Given the description of an element on the screen output the (x, y) to click on. 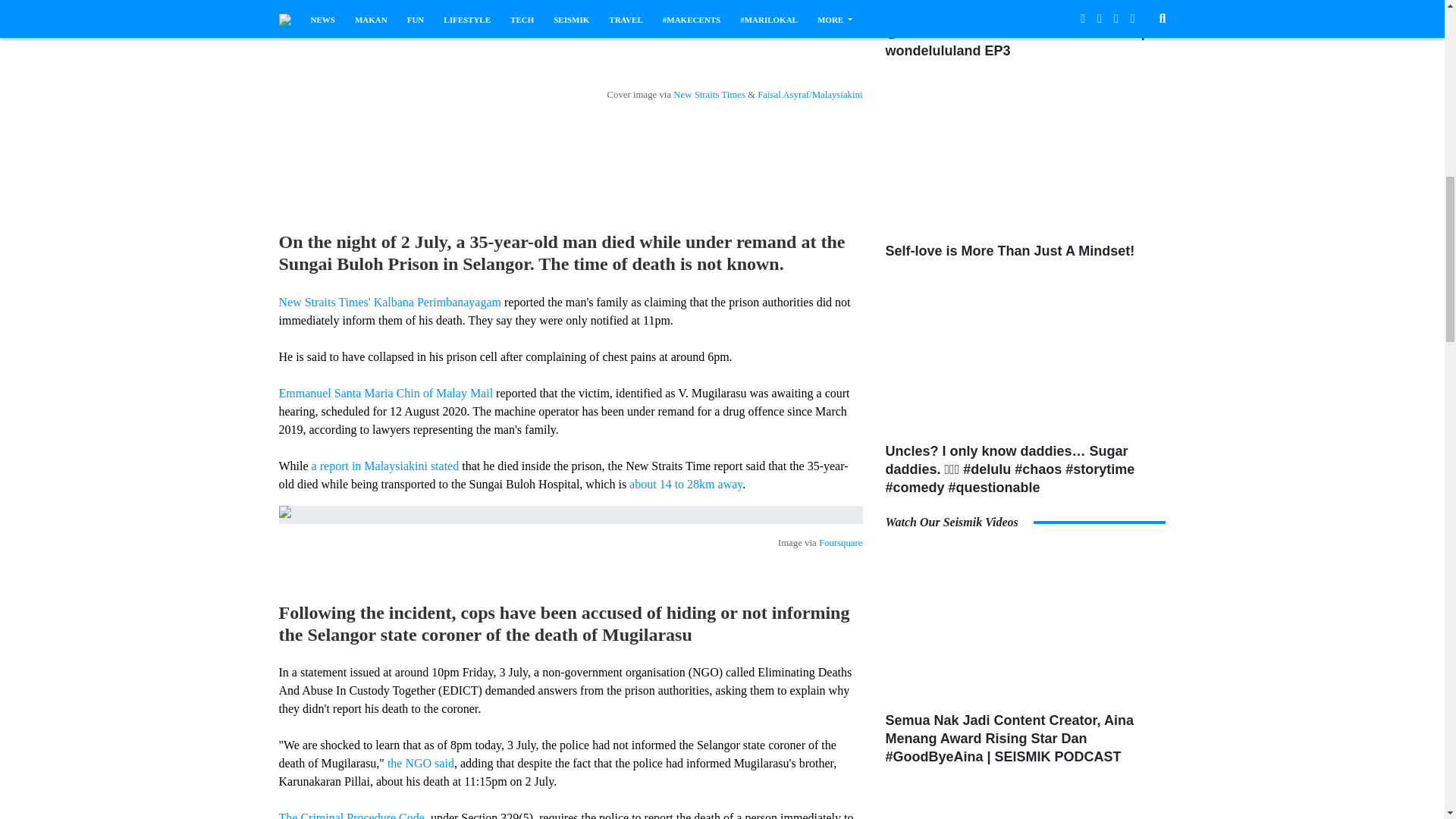
Image from Foursquare (571, 515)
Self-love is More Than Just A Mindset! (1025, 156)
